Given the description of an element on the screen output the (x, y) to click on. 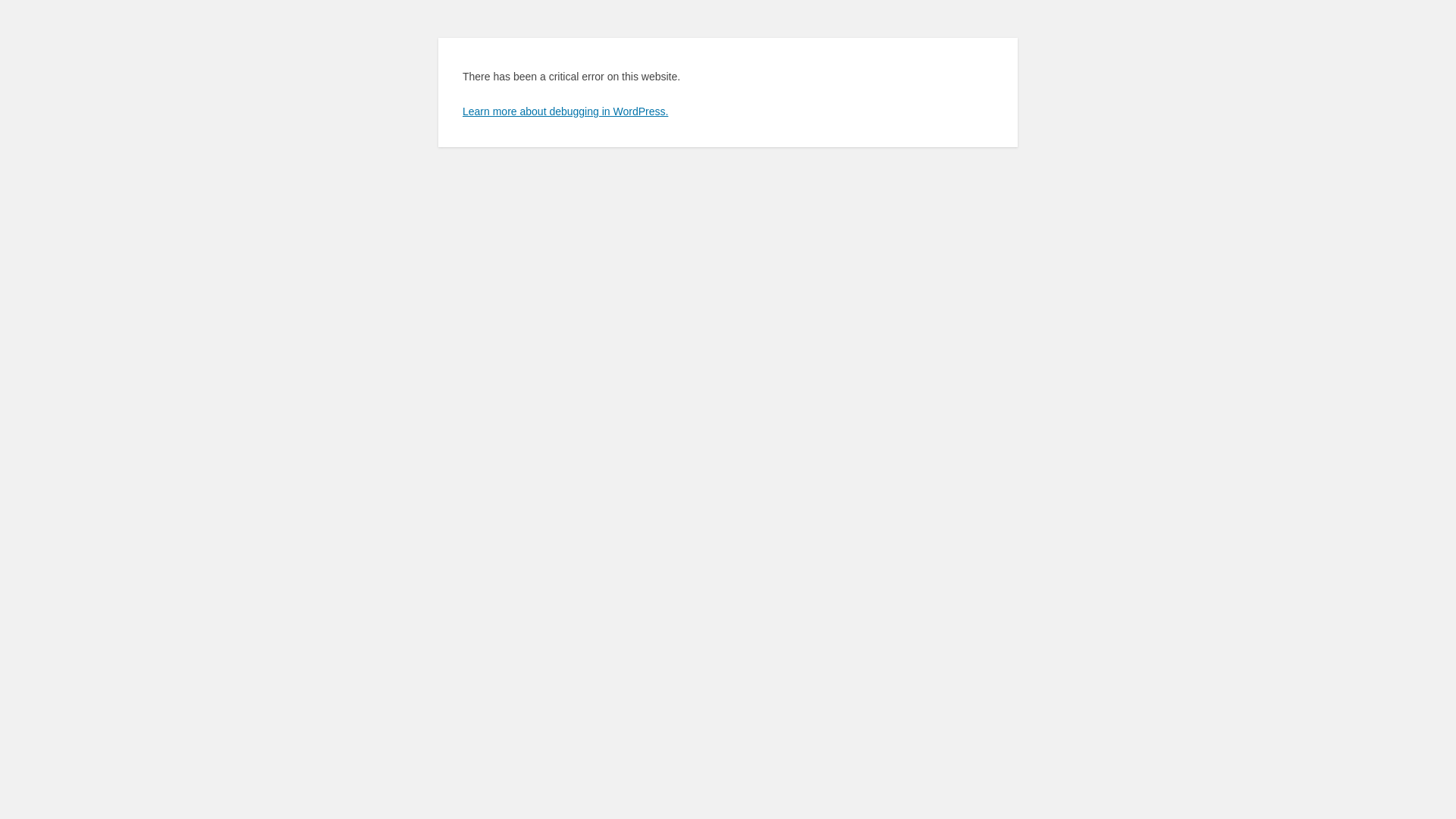
Learn more about debugging in WordPress. Element type: text (565, 111)
